Given the description of an element on the screen output the (x, y) to click on. 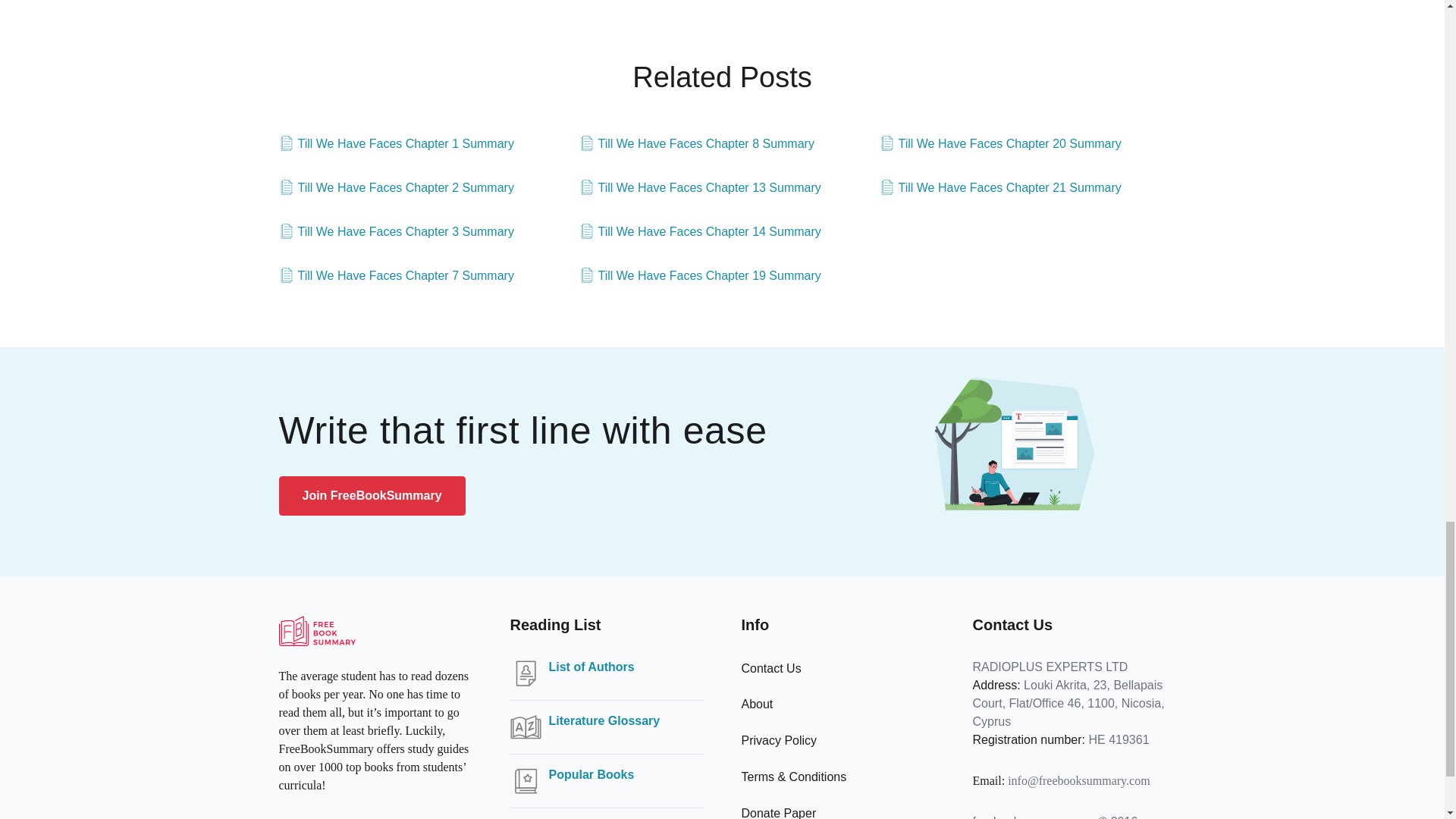
Till We Have Faces Chapter 13 Summary (700, 188)
Till We Have Faces Chapter 2 Summary (396, 188)
Till We Have Faces Chapter 19 Summary (700, 275)
Till We Have Faces Chapter 21 Summary (1000, 188)
Popular Books (591, 774)
Till We Have Faces Chapter 7 Summary (396, 275)
Till We Have Faces Chapter 14 Summary (700, 231)
Donate Paper (778, 812)
Till We Have Faces Chapter 3 Summary (396, 231)
Till We Have Faces Chapter 20 Summary (1000, 144)
Contact Us (771, 667)
Privacy Policy (778, 739)
Literature Glossary (604, 720)
Till We Have Faces Chapter 8 Summary (696, 144)
List of Authors (591, 667)
